Given the description of an element on the screen output the (x, y) to click on. 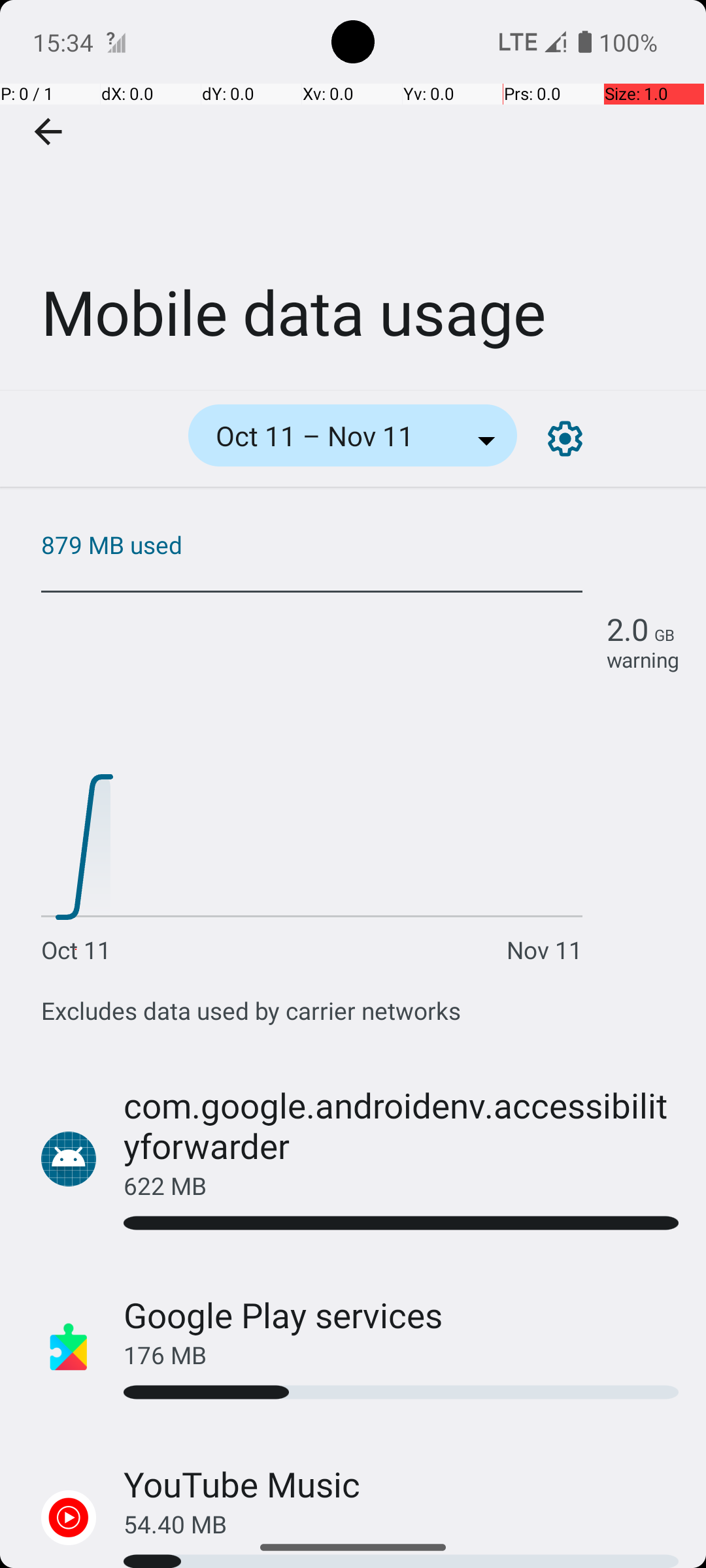
Mobile data usage Element type: android.widget.FrameLayout (353, 195)
Configure Element type: android.widget.ImageView (565, 438)
Oct 11 – Nov 11 Element type: android.widget.TextView (331, 435)
879 MB used Element type: android.widget.TextView (359, 544)
Graph showing data usage between Oct 11 and Nov 11.;Oct 11 – 14 0%;Oct 14 100% Element type: android.widget.FrameLayout (359, 770)
Excludes data used by carrier networks Element type: android.widget.TextView (251, 1010)
com.google.androidenv.accessibilityforwarder Element type: android.widget.TextView (400, 1124)
622 MB Element type: android.widget.TextView (400, 1185)
Google Play services Element type: android.widget.TextView (283, 1314)
176 MB Element type: android.widget.TextView (400, 1354)
28% Element type: android.widget.ProgressBar (400, 1392)
YouTube Music Element type: android.widget.TextView (241, 1483)
54.40 MB Element type: android.widget.TextView (400, 1516)
2.0 GB
warning Element type: android.widget.TextView (642, 640)
Oct 11 Element type: android.widget.TextView (76, 949)
Nov 11 Element type: android.widget.TextView (544, 949)
